Given the description of an element on the screen output the (x, y) to click on. 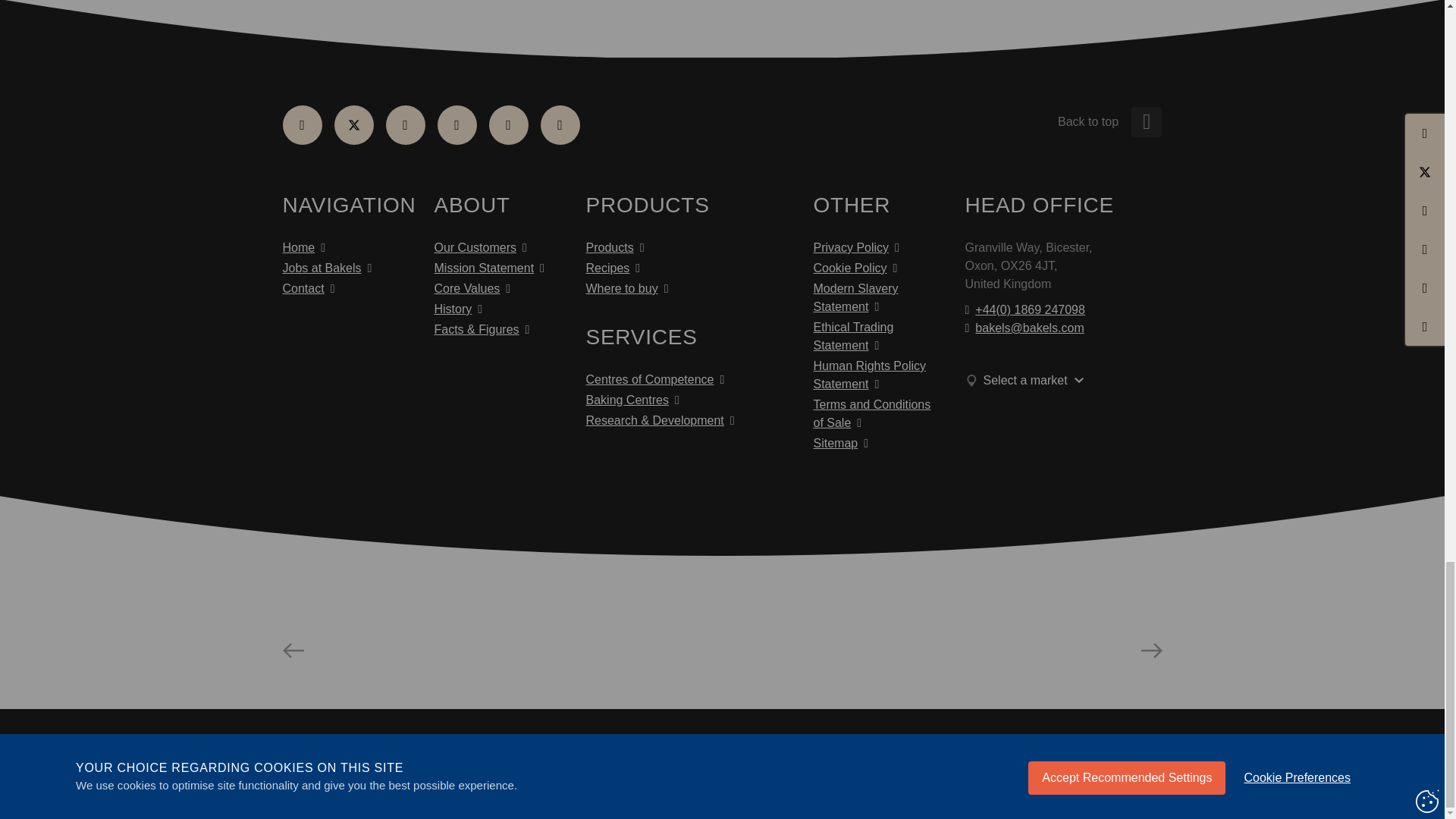
Back to top (1088, 122)
Back to top Back to top (1024, 121)
Back to top (1146, 122)
